Given the description of an element on the screen output the (x, y) to click on. 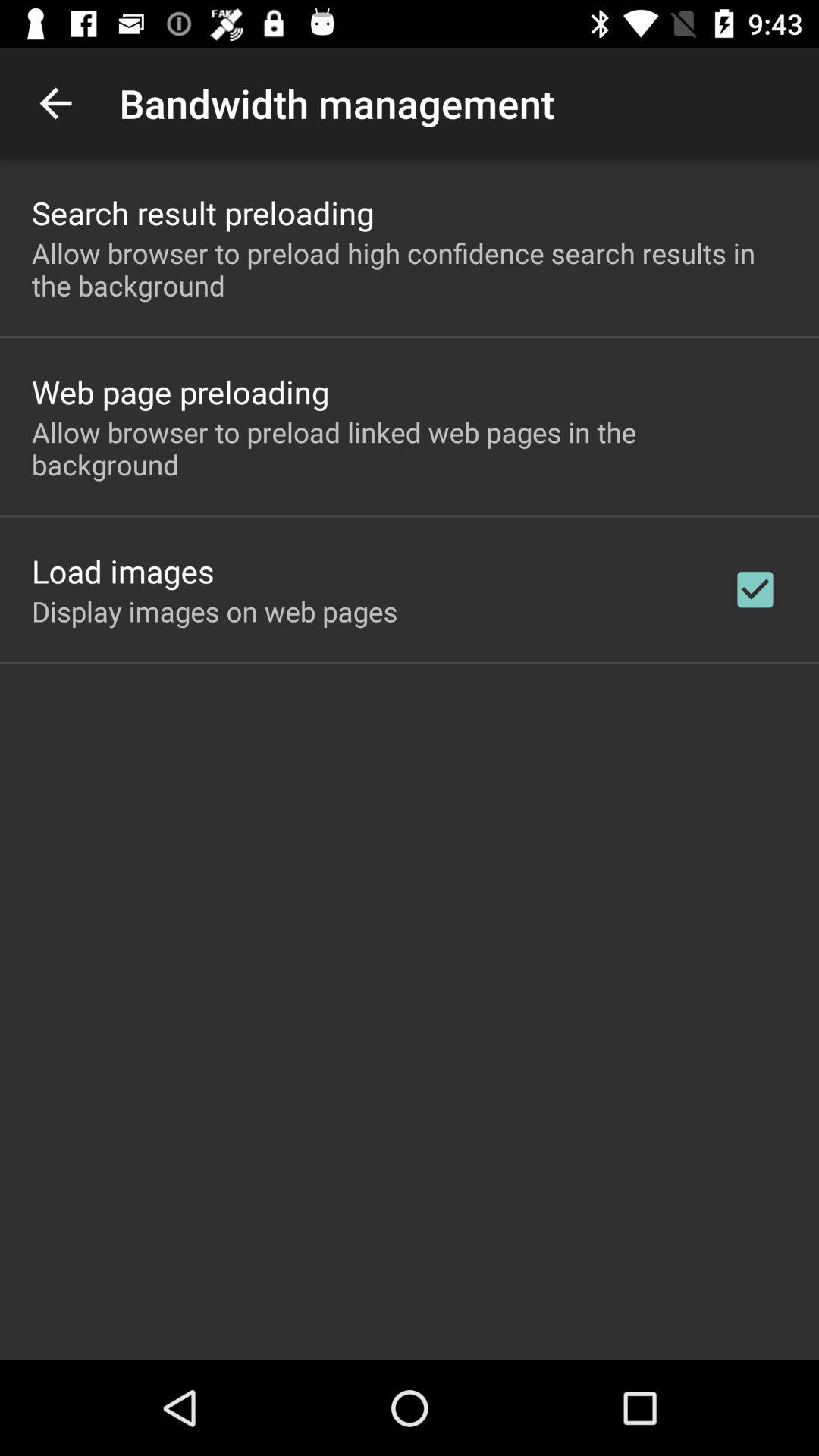
turn off the search result preloading (202, 212)
